Given the description of an element on the screen output the (x, y) to click on. 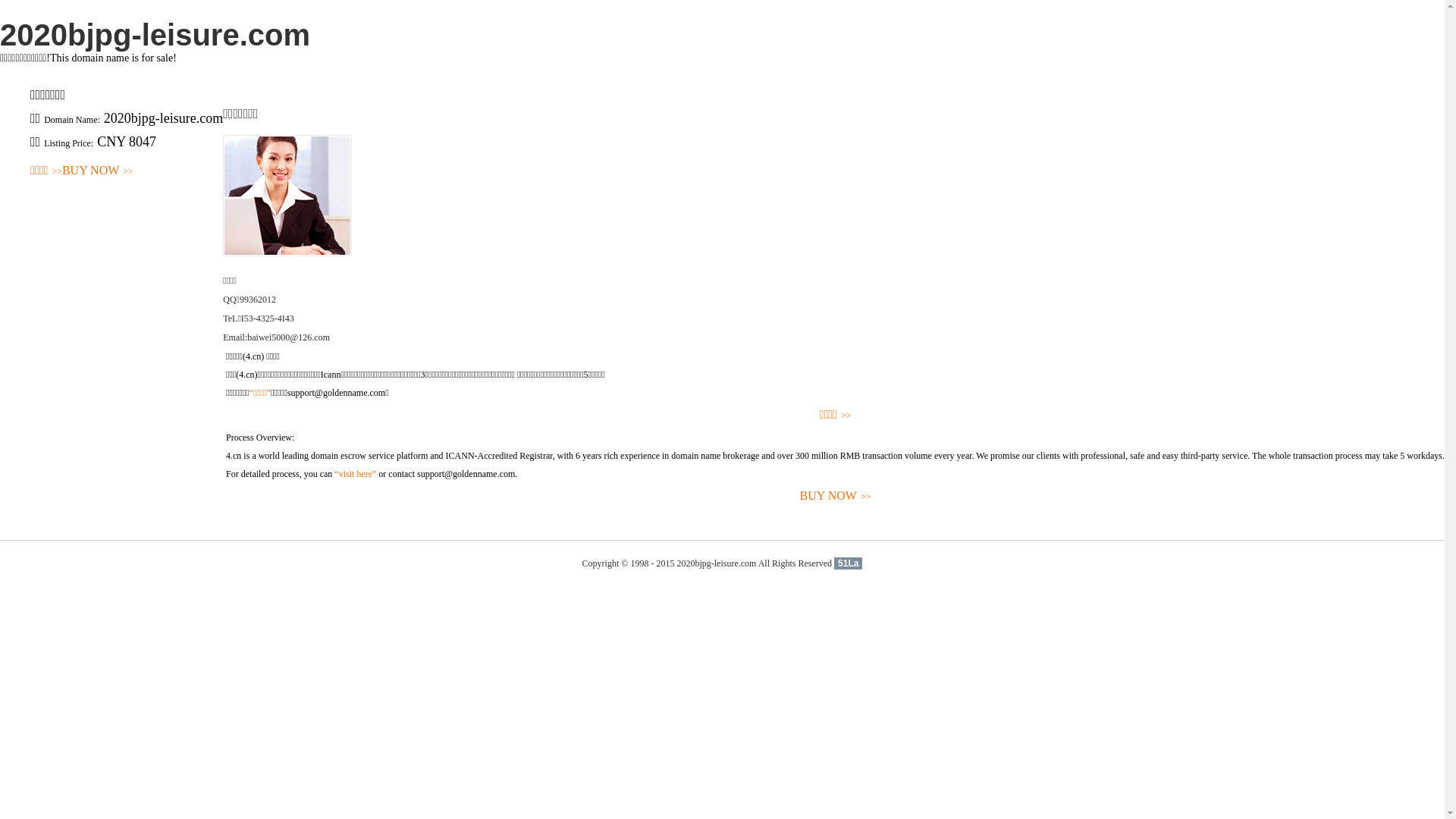
BUY NOW>> Element type: text (834, 496)
BUY NOW>> Element type: text (97, 170)
51La Element type: text (848, 563)
